Given the description of an element on the screen output the (x, y) to click on. 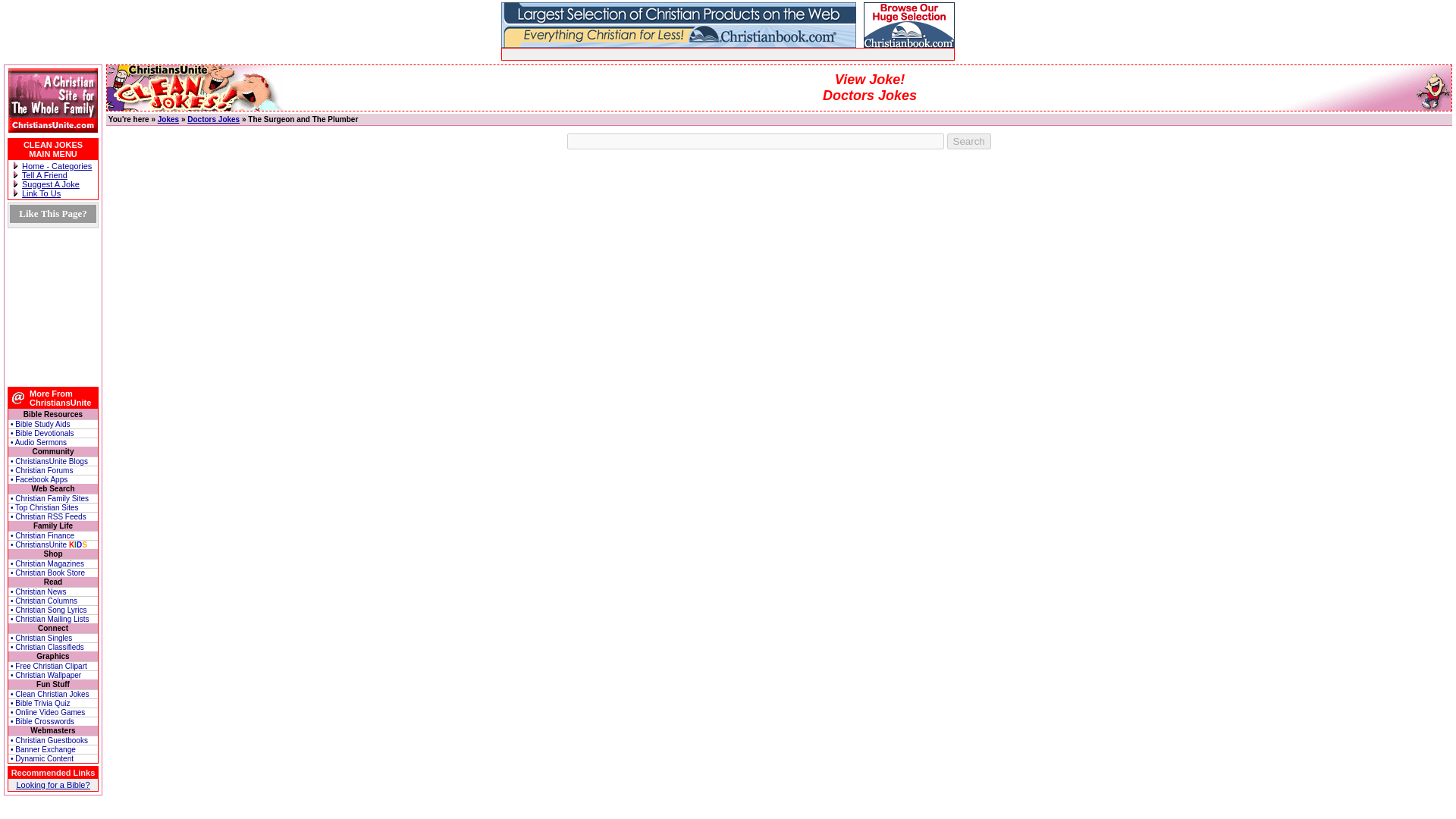
Search (969, 141)
Looking for a Bible? (52, 784)
Link To Us (41, 193)
Tell A Friend (43, 174)
Advertisement (679, 53)
Doctors Jokes (213, 119)
Suggest A Joke (50, 184)
Search (969, 141)
Jokes (168, 119)
Home - Categories (56, 165)
